Given the description of an element on the screen output the (x, y) to click on. 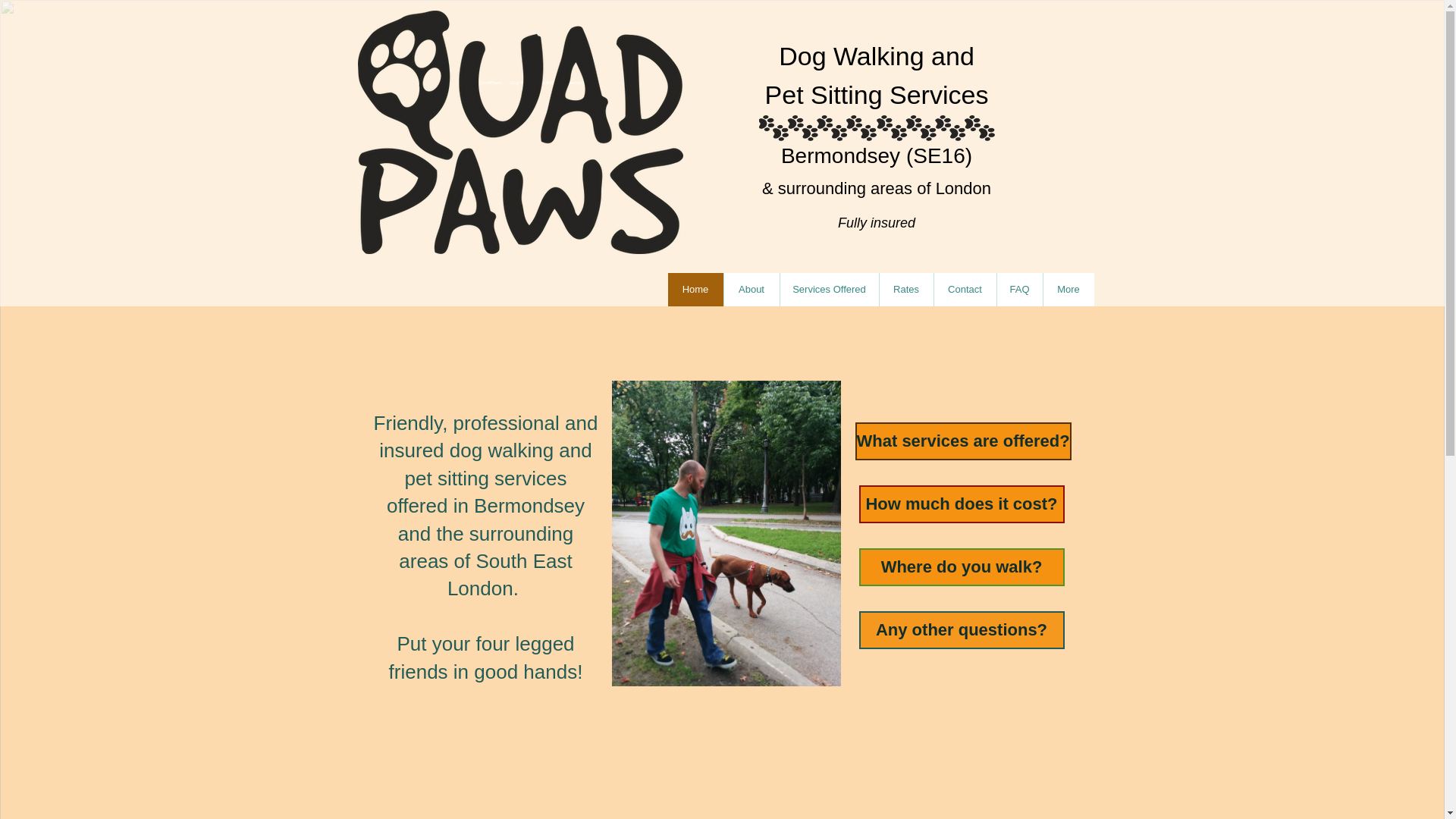
How much does it cost? (961, 504)
Rates (905, 289)
Any other questions? (961, 629)
Bermondsey dog walker, dog walking, quadpaws (876, 127)
Where do you walk? (961, 566)
QuadPaws Bermondsey Dog Walking (521, 131)
What services are offered? (963, 441)
Services Offered (828, 289)
Contact (964, 289)
Home (694, 289)
